Given the description of an element on the screen output the (x, y) to click on. 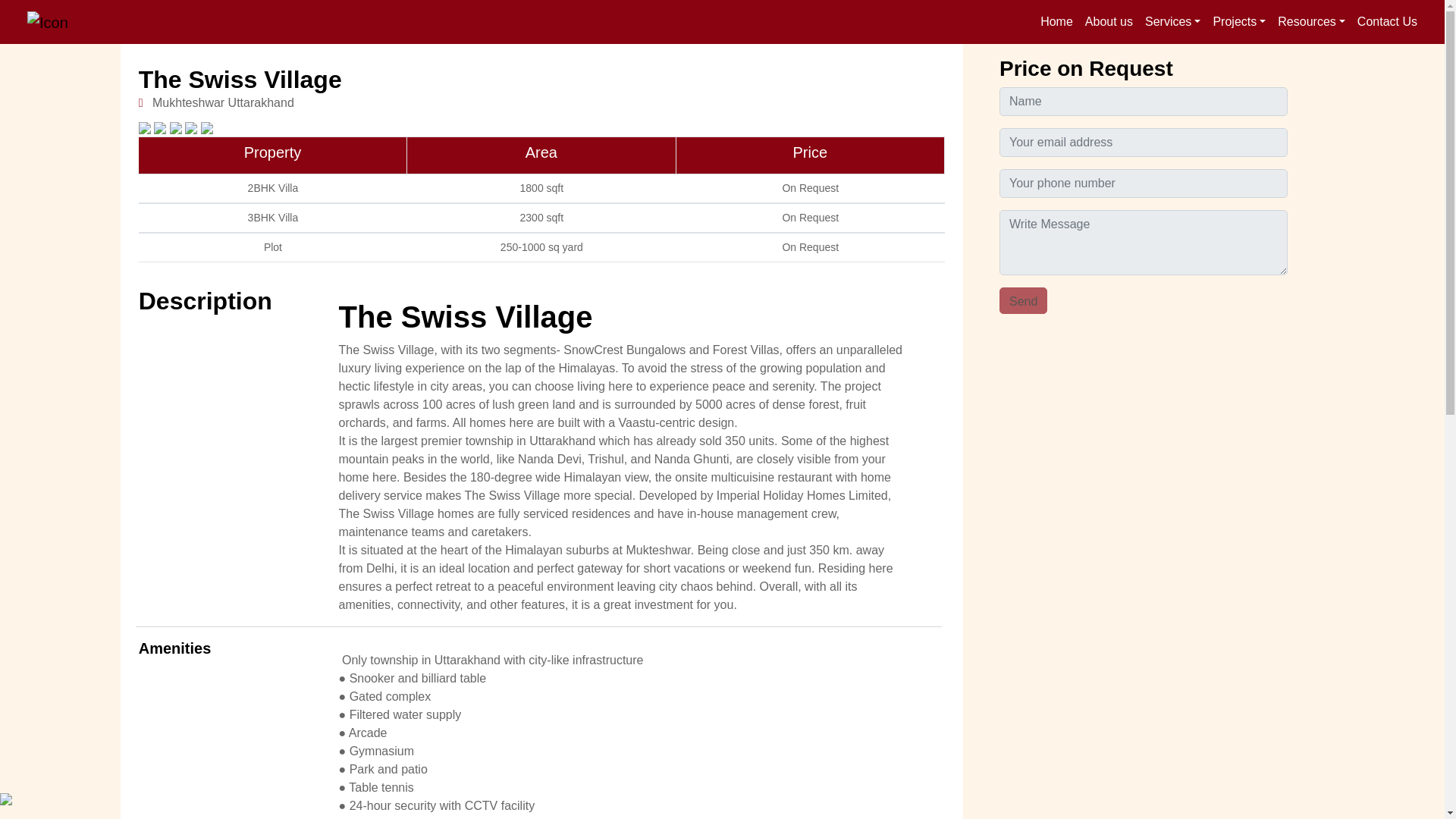
Projects (1239, 21)
Resources (1311, 21)
Send (1022, 300)
Services (1172, 21)
Home (1055, 21)
About us (1108, 21)
Contact Us (1387, 21)
